Given the description of an element on the screen output the (x, y) to click on. 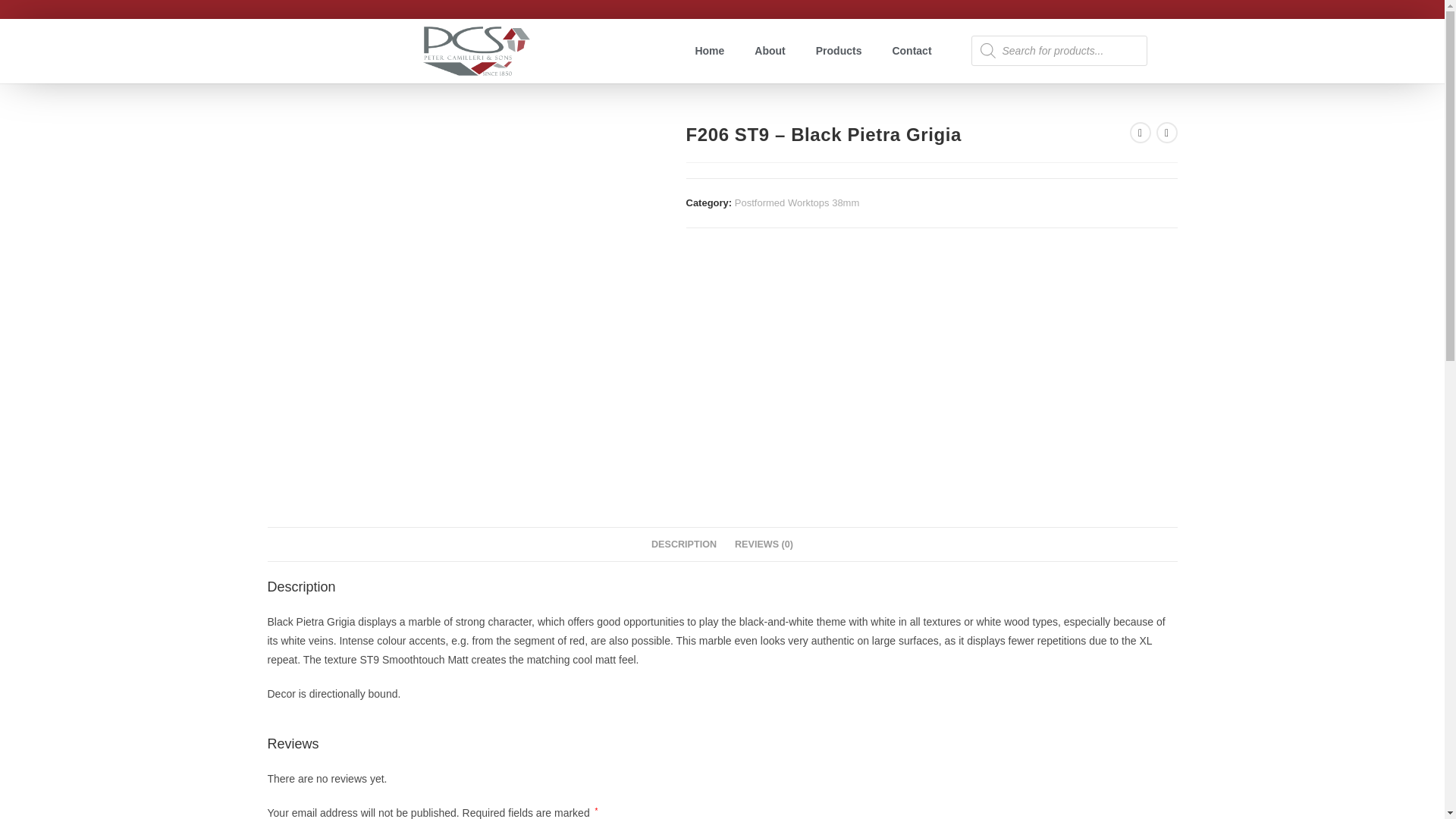
DESCRIPTION (683, 544)
Postformed Worktops 38mm (797, 202)
Home (709, 50)
Products (838, 50)
Contact (911, 50)
About (769, 50)
